Given the description of an element on the screen output the (x, y) to click on. 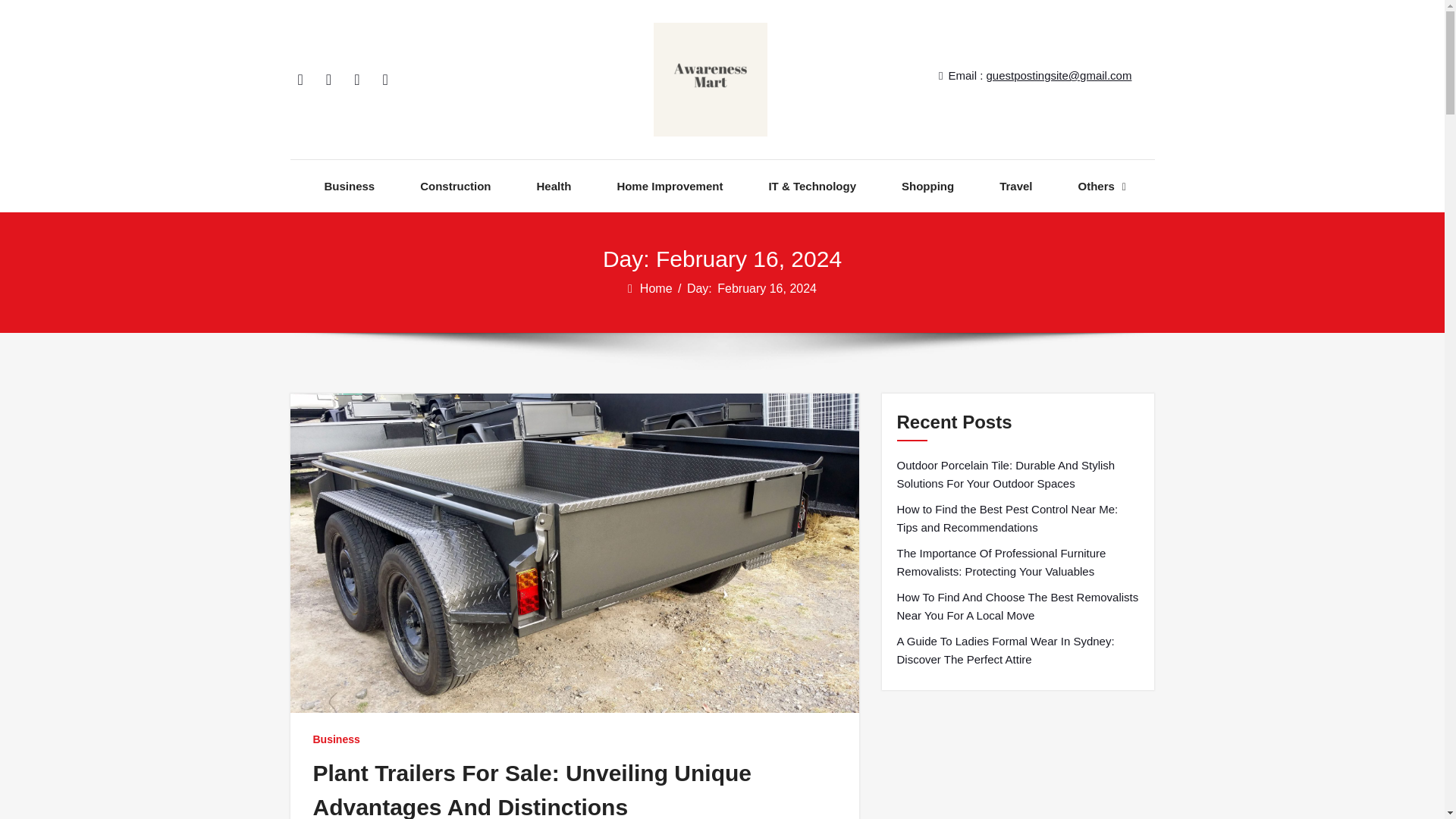
Business (336, 739)
Home Improvement (668, 185)
Home (657, 287)
Shopping (927, 185)
Business (349, 185)
Construction (455, 185)
